Given the description of an element on the screen output the (x, y) to click on. 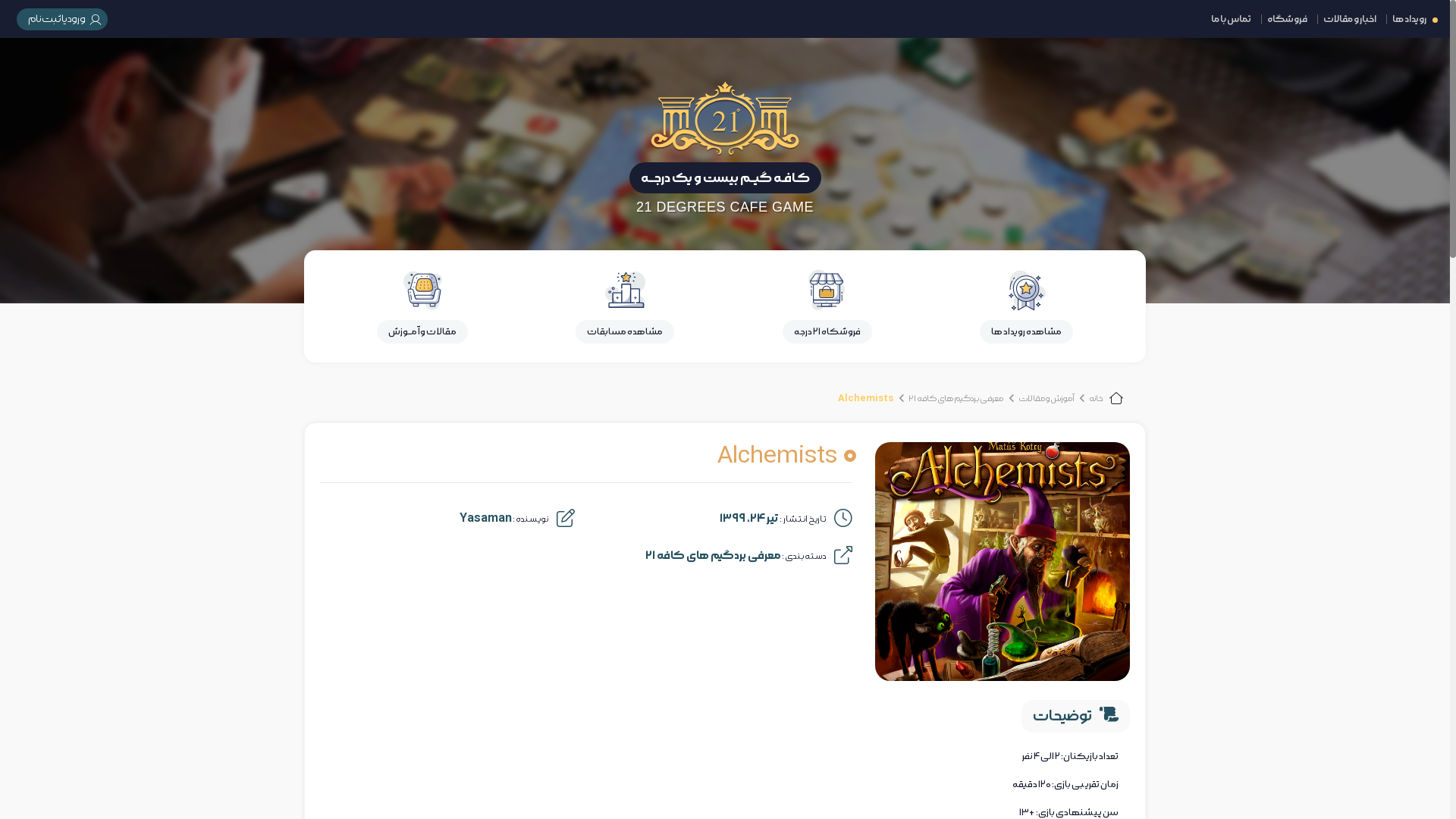
Alchemists Element type: text (865, 398)
